Given the description of an element on the screen output the (x, y) to click on. 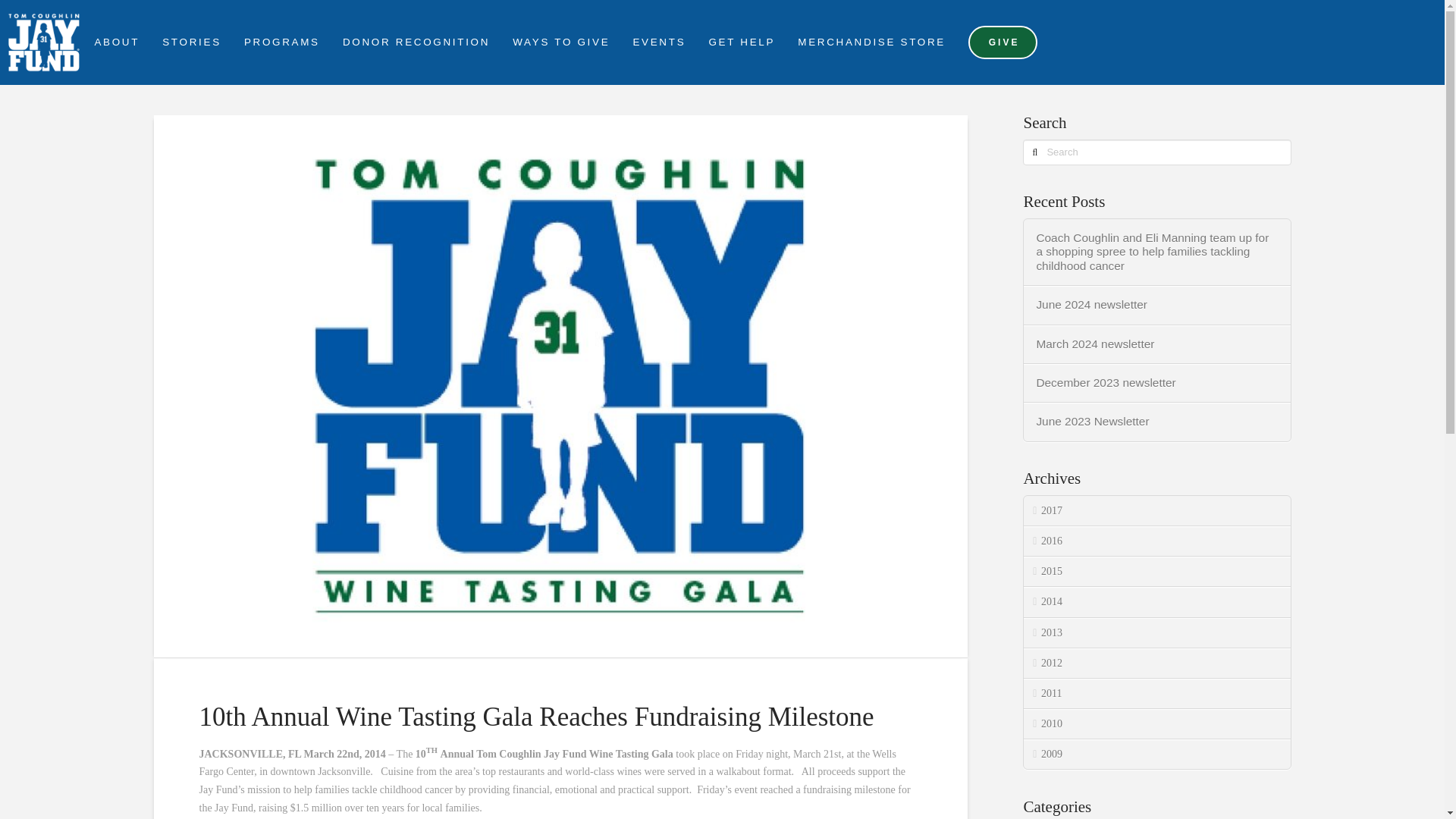
GIVE (1003, 41)
Help (740, 42)
Programs (280, 42)
MERCHANDISE STORE (871, 42)
2015 (1156, 571)
PROGRAMS (280, 42)
Ways to Give (560, 42)
WAYS TO GIVE (560, 42)
2014 (1156, 602)
DONOR RECOGNITION (414, 42)
2016 (1156, 541)
GET HELP (740, 42)
EVENTS (657, 42)
STORIES (190, 42)
